Given the description of an element on the screen output the (x, y) to click on. 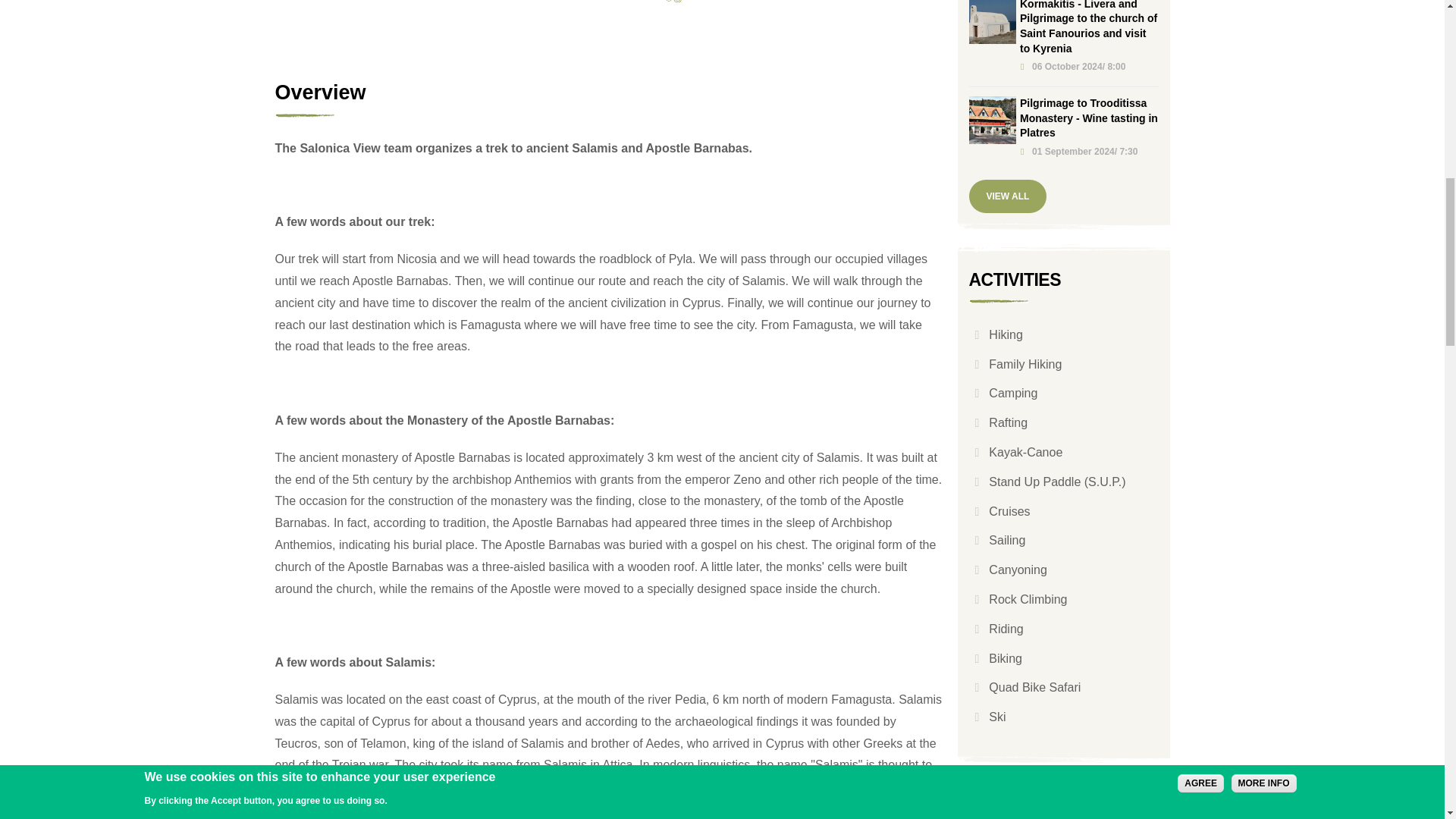
Team Building  (672, 2)
